Given the description of an element on the screen output the (x, y) to click on. 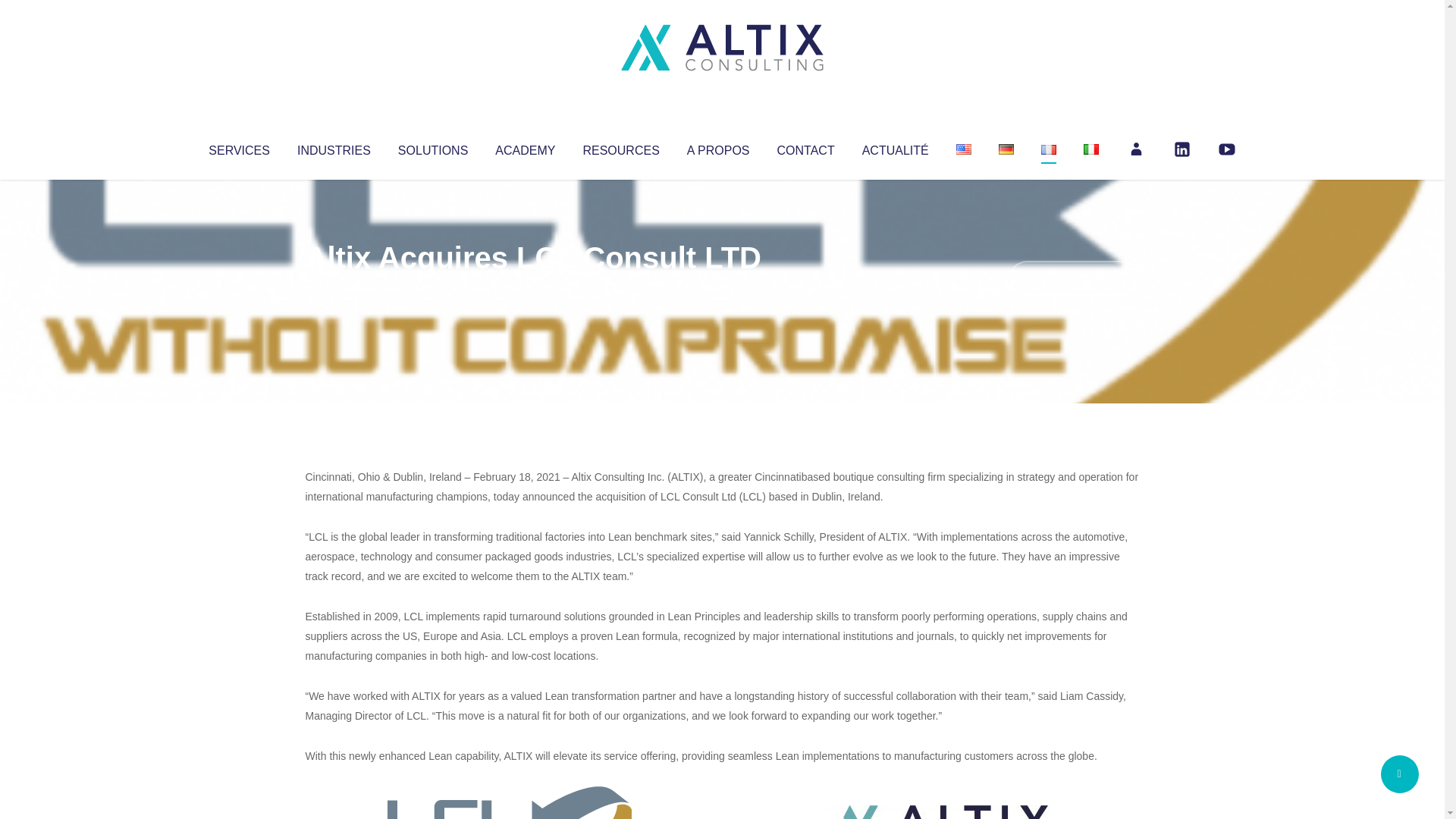
Altix (333, 287)
Articles par Altix (333, 287)
SERVICES (238, 146)
RESOURCES (620, 146)
Uncategorized (530, 287)
No Comments (1073, 278)
SOLUTIONS (432, 146)
ACADEMY (524, 146)
INDUSTRIES (334, 146)
A PROPOS (718, 146)
